Given the description of an element on the screen output the (x, y) to click on. 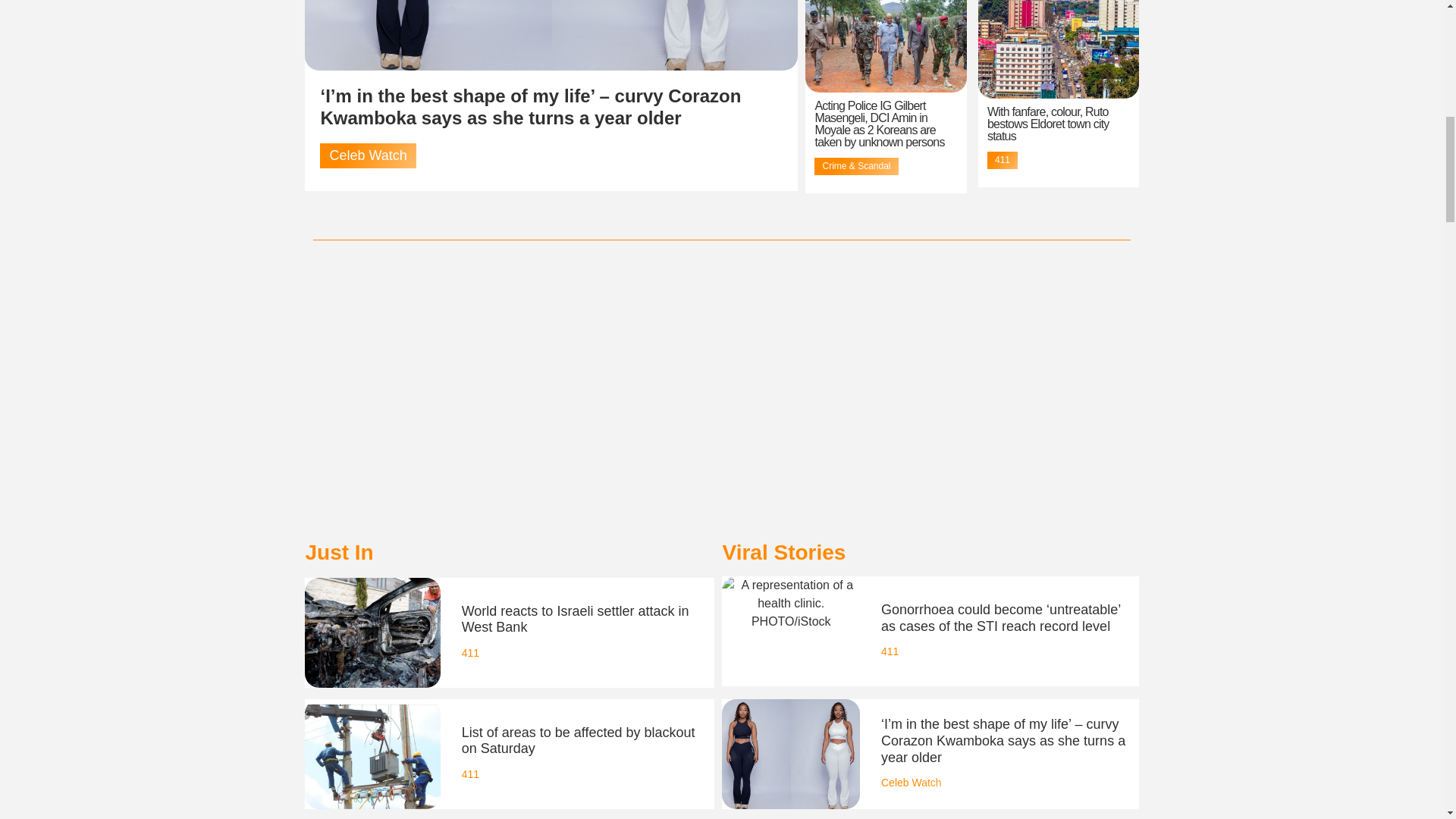
With fanfare, colour, Ruto bestows Eldoret town city status (1048, 123)
World reacts to Israeli settler attack in West Bank (574, 619)
List of areas to be affected by blackout on Saturday (578, 740)
